Given the description of an element on the screen output the (x, y) to click on. 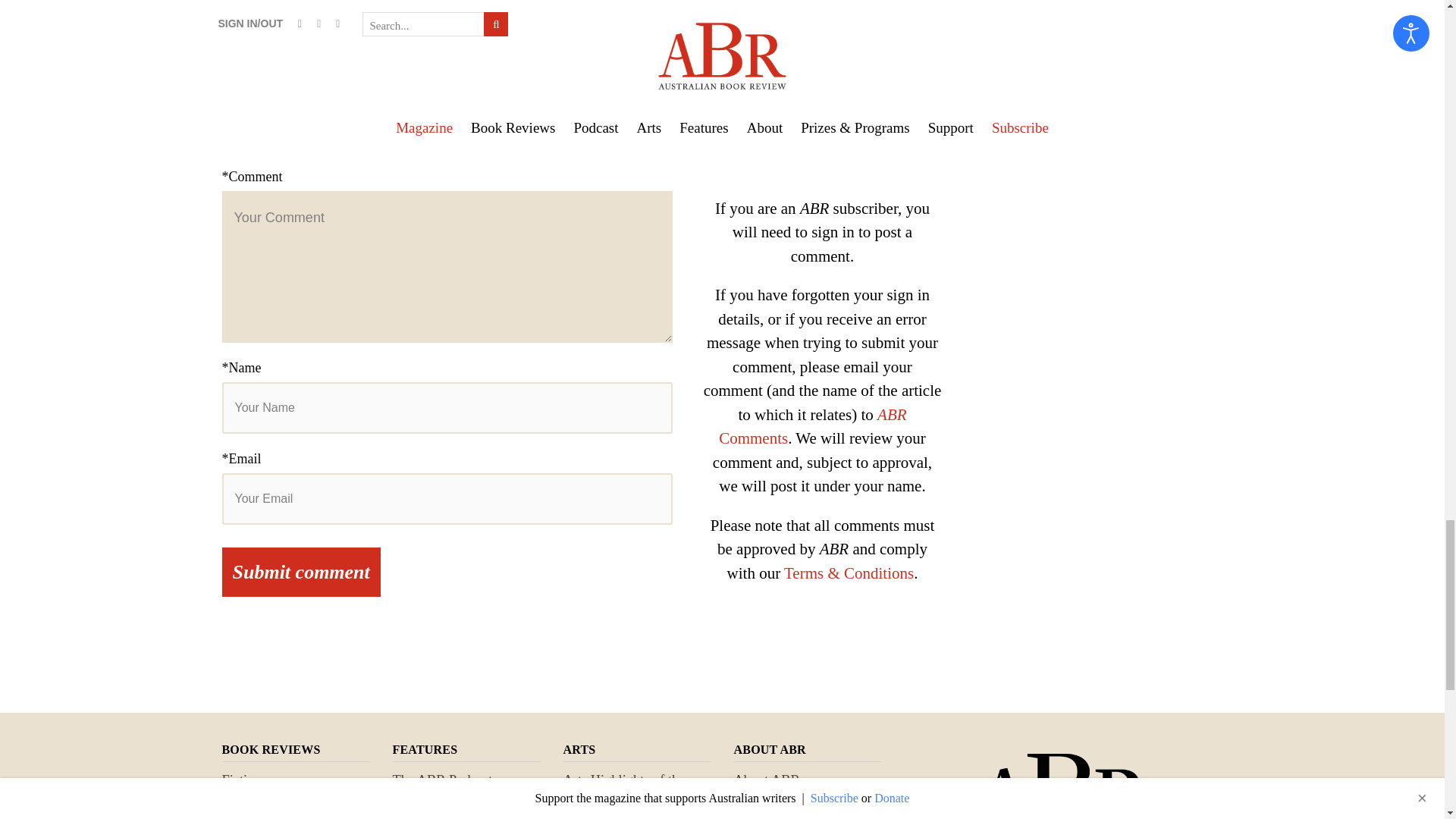
Your Email (446, 498)
Your Name (446, 408)
Submit comment (300, 572)
